Given the description of an element on the screen output the (x, y) to click on. 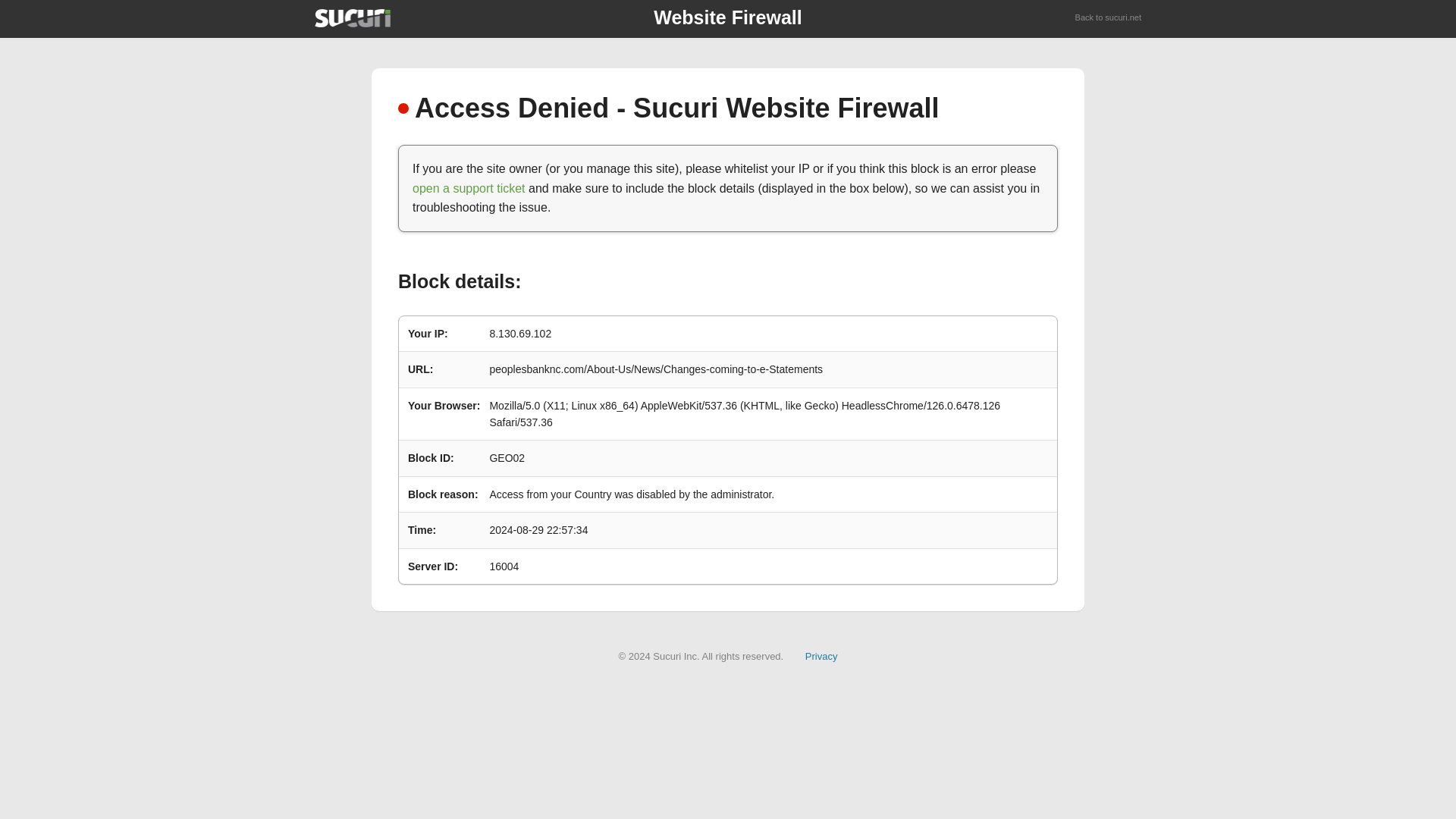
open a support ticket (468, 187)
Back to sucuri.net (1108, 18)
Privacy (821, 655)
